Given the description of an element on the screen output the (x, y) to click on. 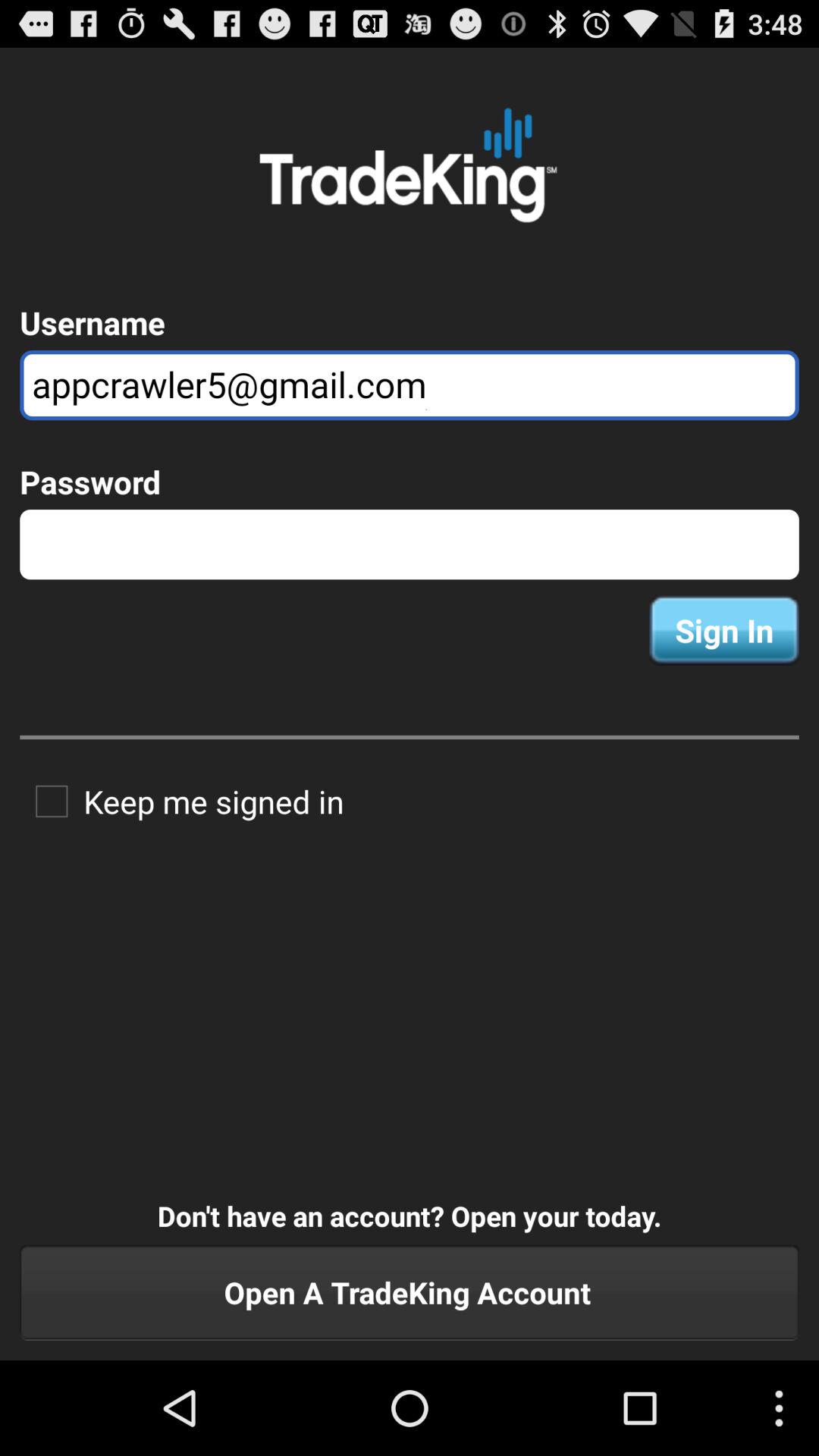
tap the sign in (724, 630)
